Given the description of an element on the screen output the (x, y) to click on. 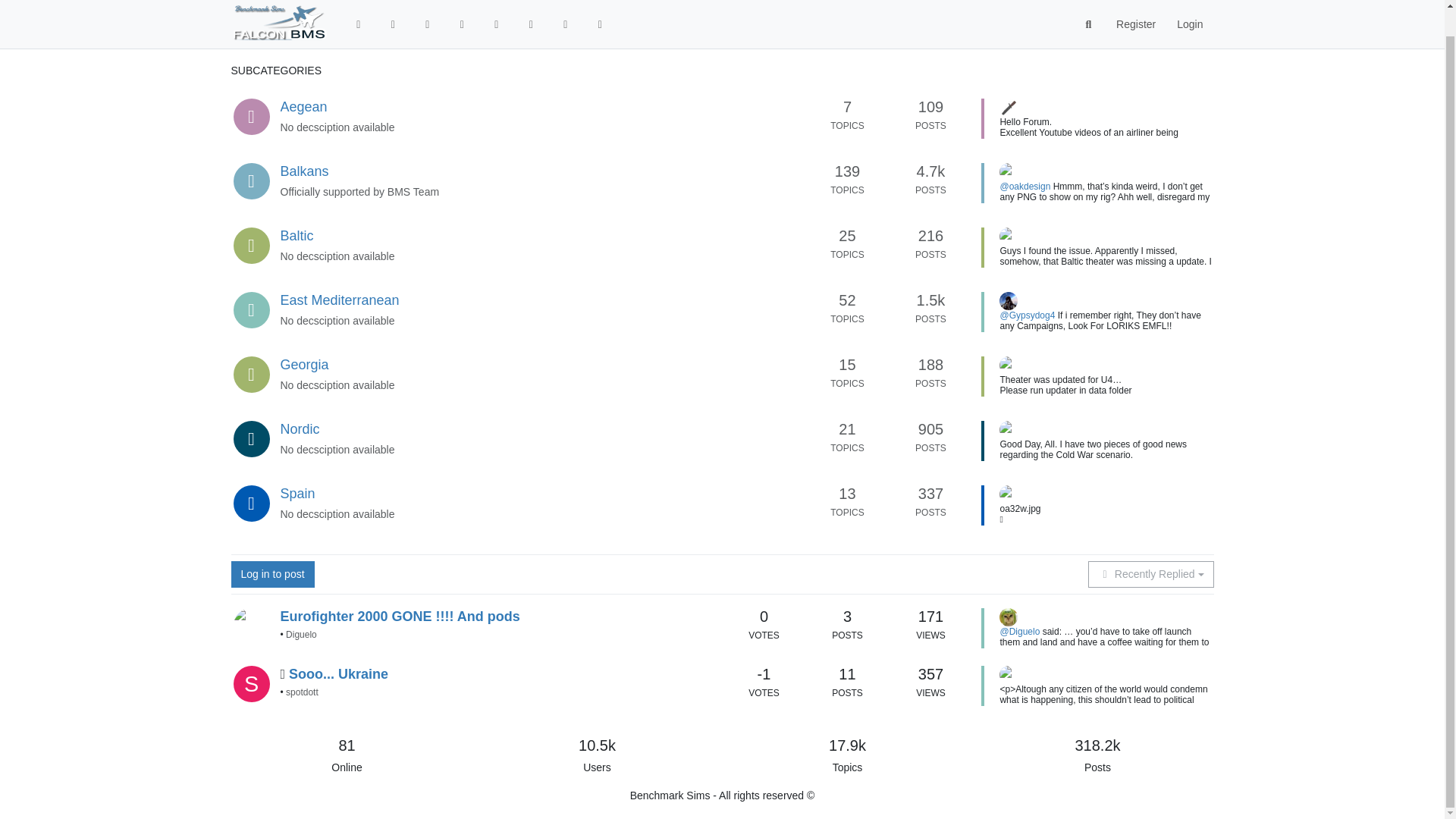
Balkans (305, 171)
Register (1135, 6)
Unread (392, 6)
Theater Discussion (320, 42)
109 (930, 106)
Login (1189, 6)
Website (496, 6)
Europe (398, 42)
139 (847, 170)
East Mediterranean (339, 299)
